Given the description of an element on the screen output the (x, y) to click on. 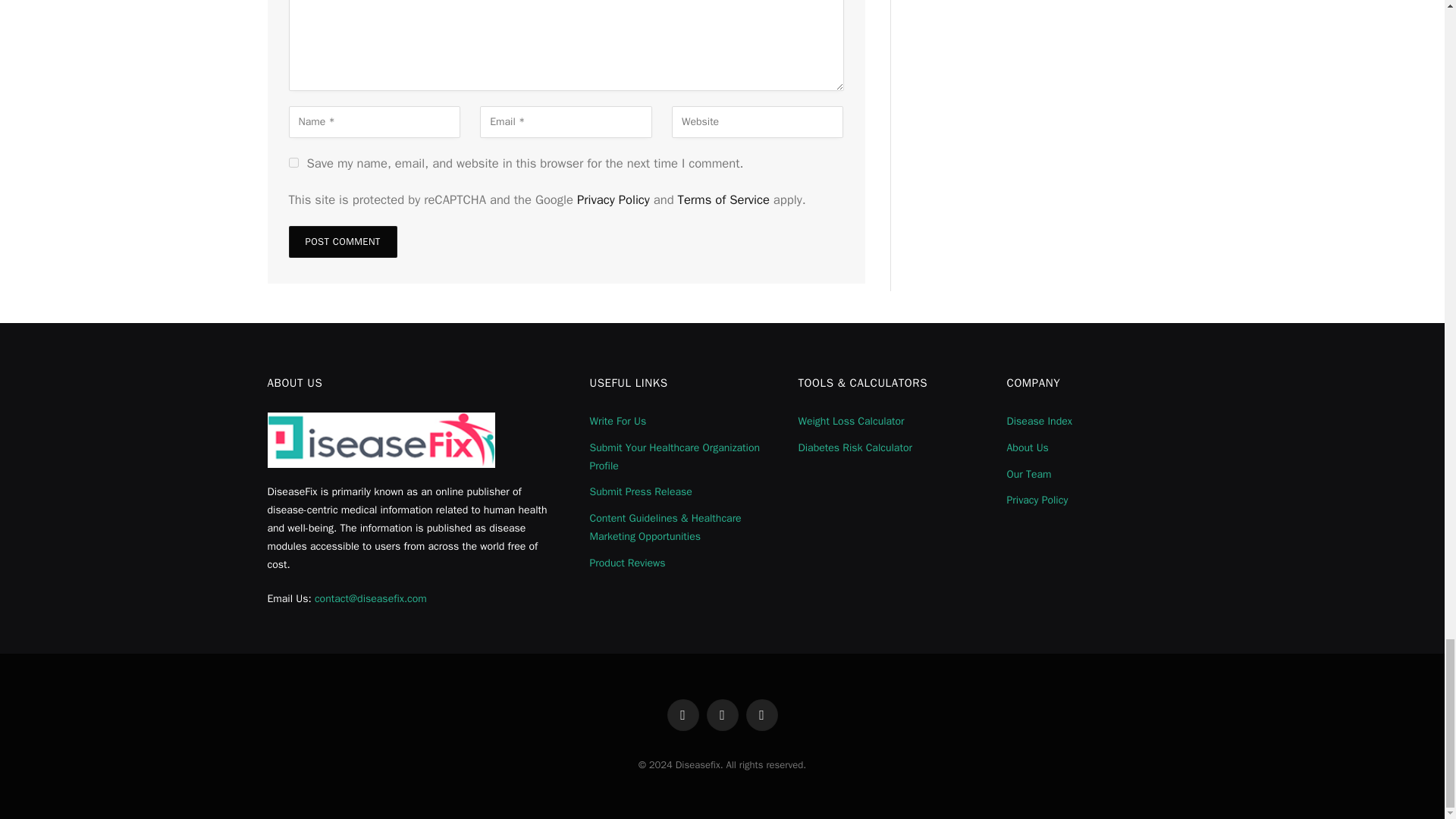
Post Comment (342, 241)
yes (293, 162)
